Given the description of an element on the screen output the (x, y) to click on. 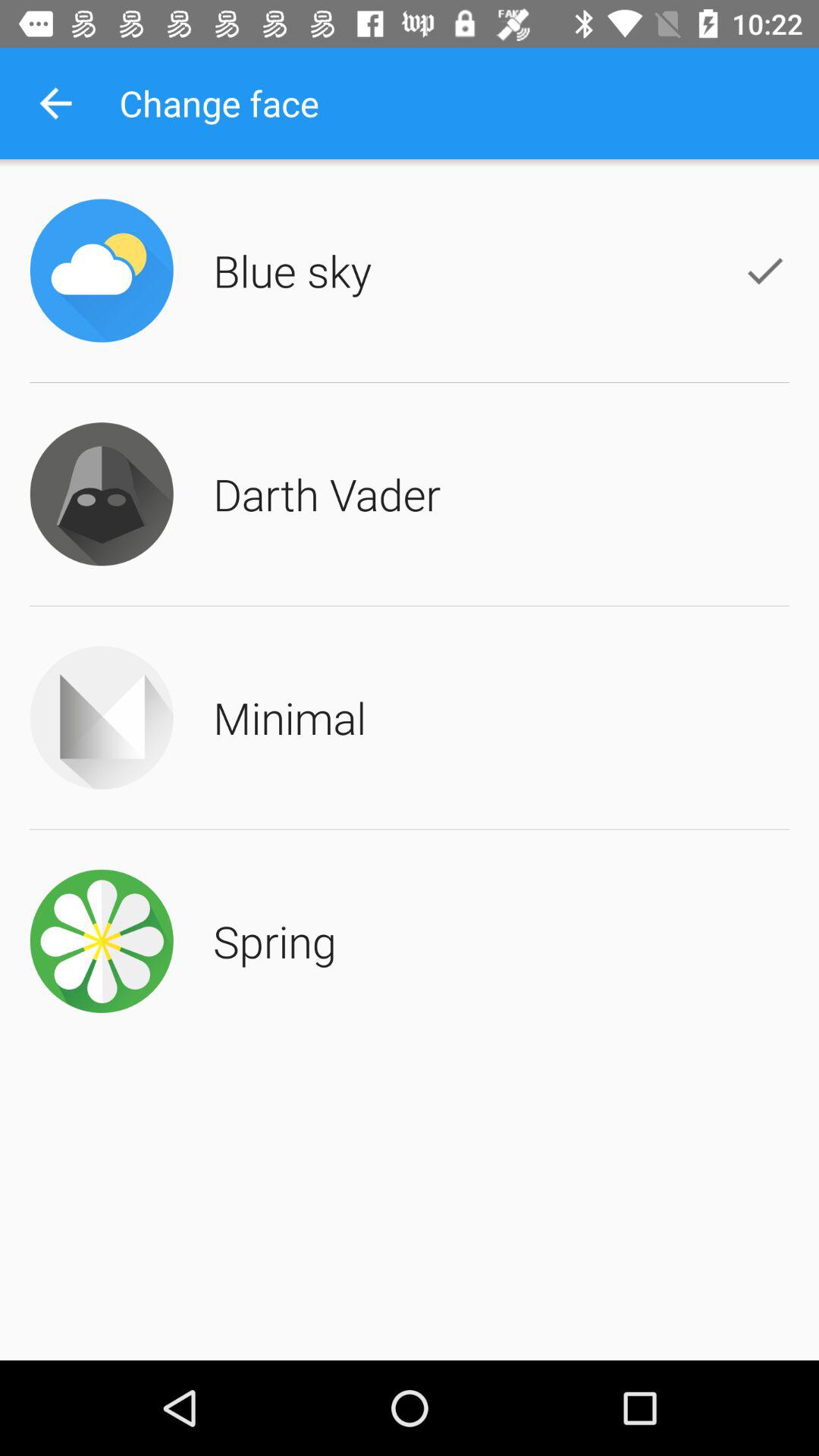
select the item below the minimal (274, 940)
